Given the description of an element on the screen output the (x, y) to click on. 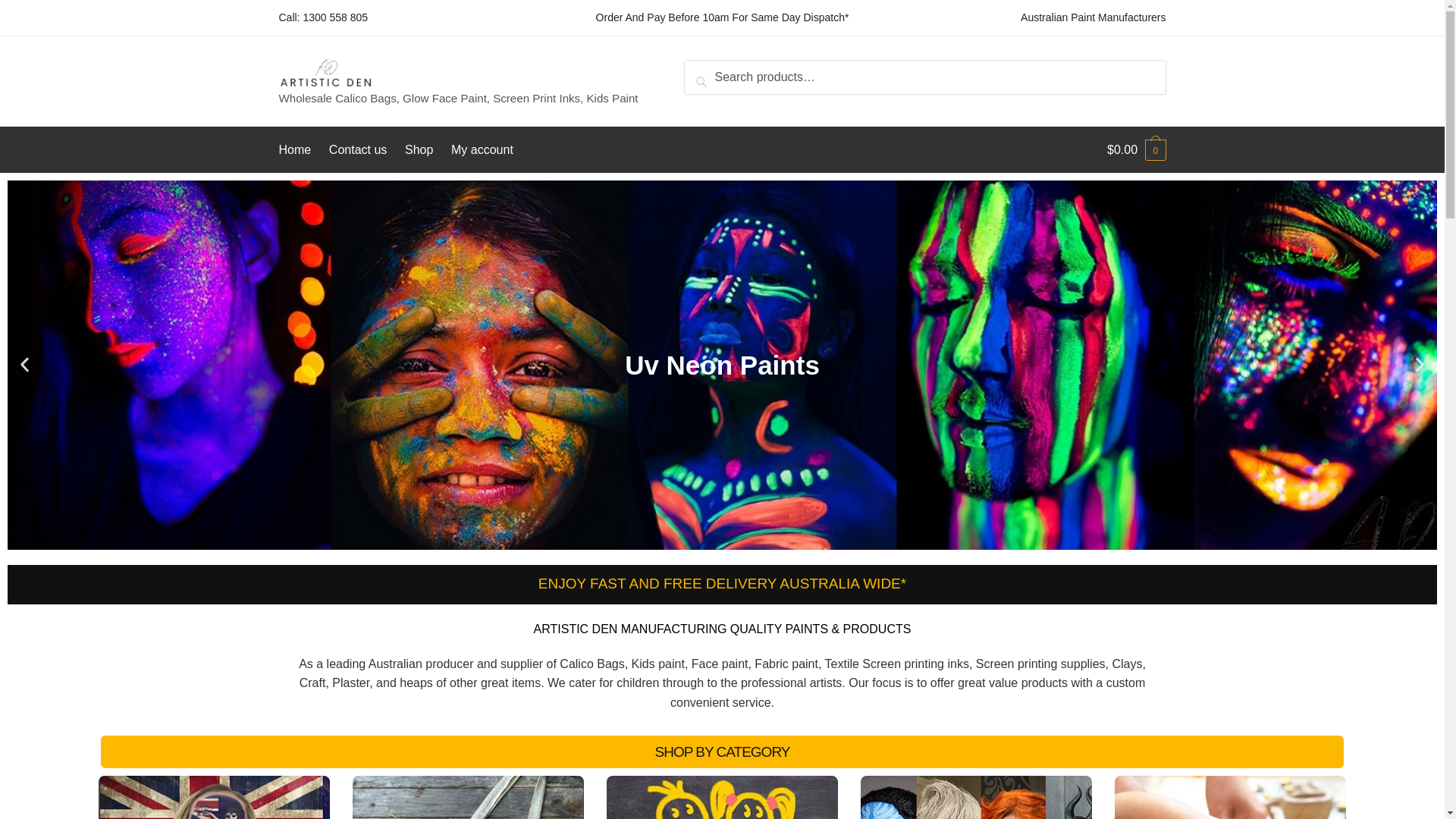
Search (712, 72)
My account (481, 149)
Shop (418, 149)
Contact us (357, 149)
View your shopping cart (1136, 149)
